Given the description of an element on the screen output the (x, y) to click on. 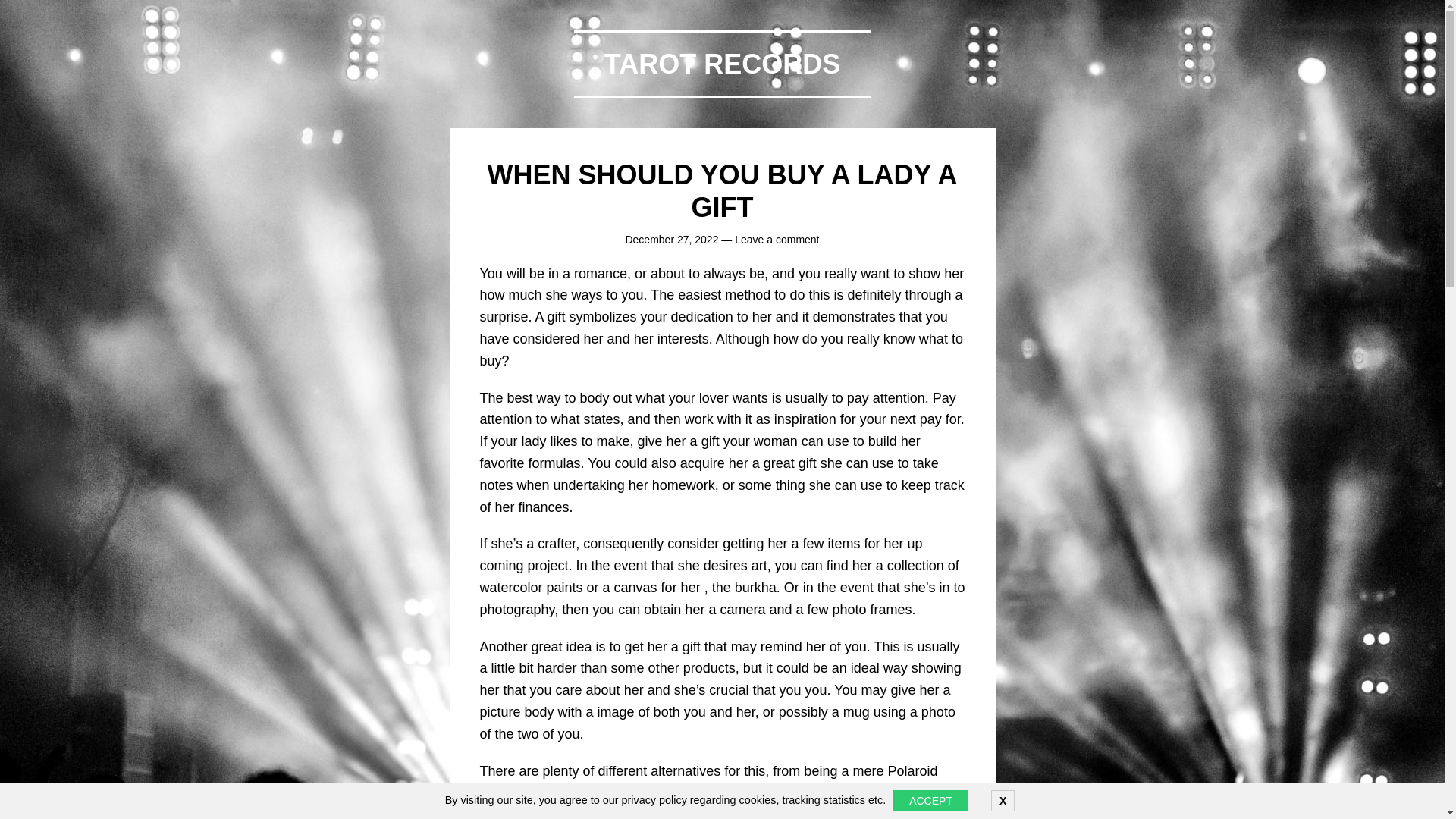
12:00 am (670, 239)
December 27, 2022 (670, 239)
Leave a comment (776, 239)
TAROT RECORDS (722, 63)
